Given the description of an element on the screen output the (x, y) to click on. 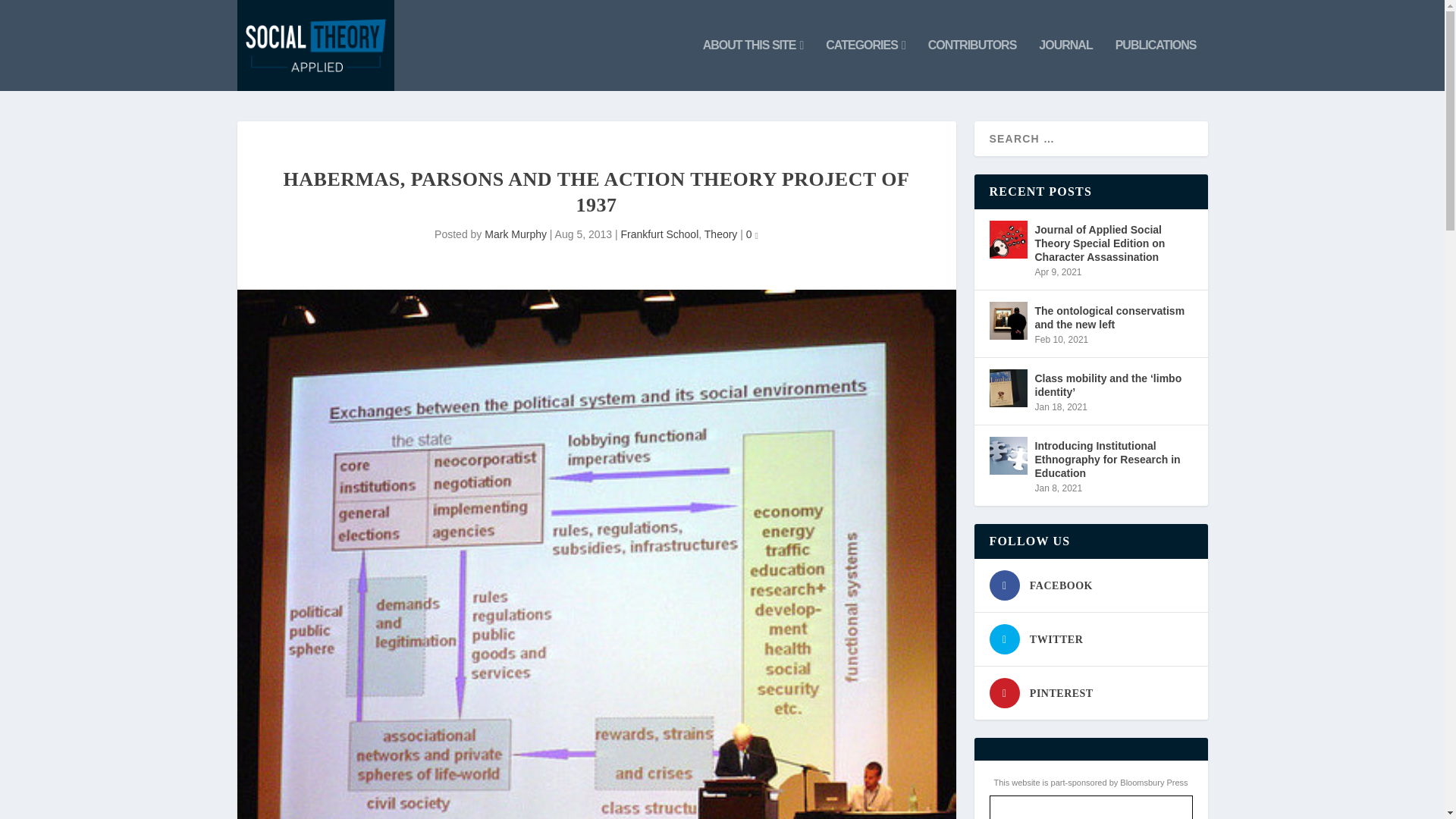
ABOUT THIS SITE (753, 64)
PUBLICATIONS (1155, 64)
CATEGORIES (864, 64)
The ontological conservatism and the new left (1007, 320)
JOURNAL (1065, 64)
CONTRIBUTORS (972, 64)
Posts by Mark Murphy (515, 234)
